Given the description of an element on the screen output the (x, y) to click on. 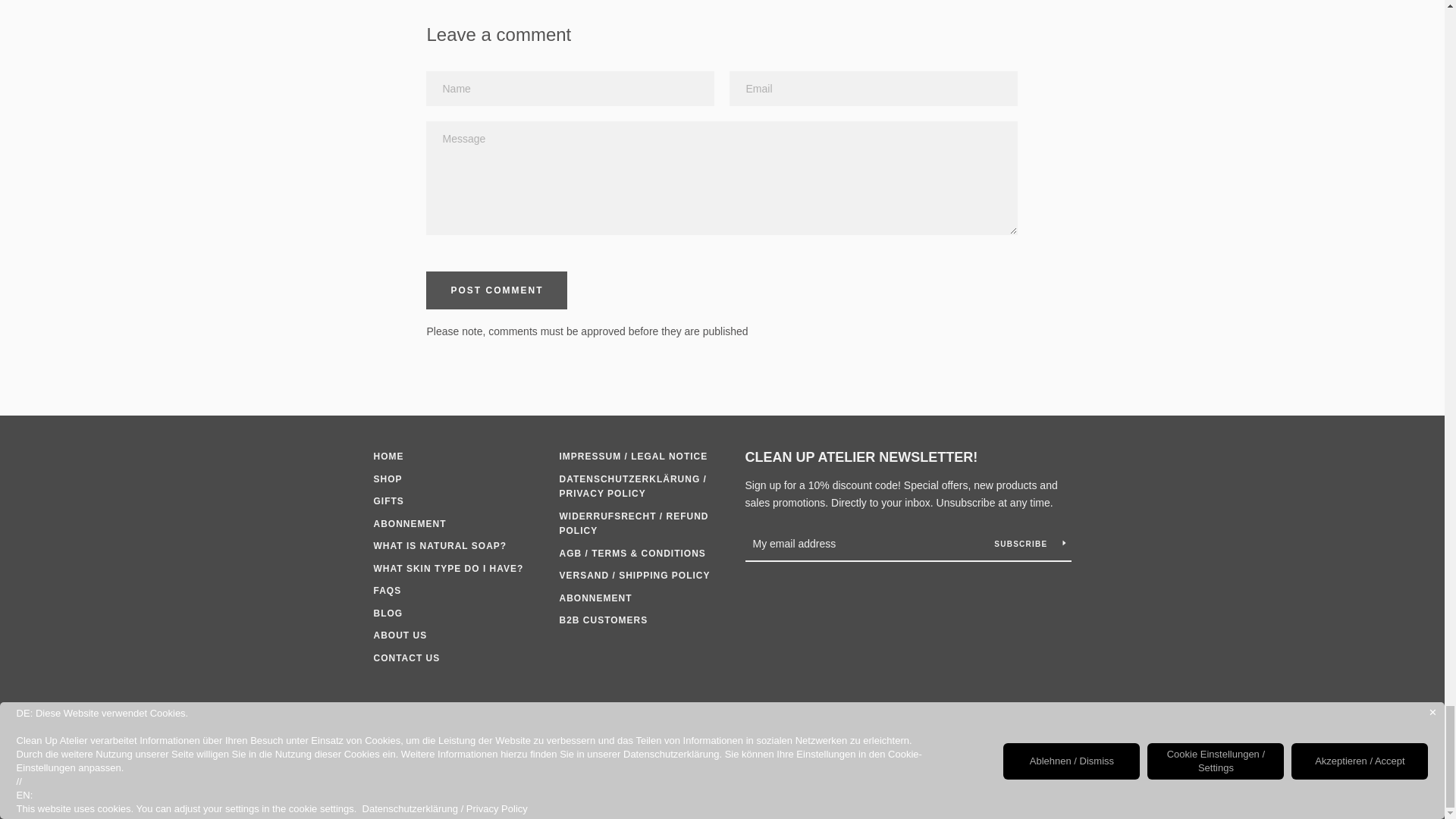
Apple Pay (918, 715)
Mastercard (1057, 715)
Maestro (1022, 715)
This online store is secured by Shopify (722, 778)
Klarna (988, 715)
Shop Pay (953, 738)
Visa (1057, 738)
American Express (883, 715)
Clean Up Atelier on Facebook (372, 725)
Clean Up Atelier on Pinterest (399, 725)
Post comment (496, 290)
Clean Up Atelier on Instagram (424, 725)
Union Pay (1022, 738)
Google Pay (953, 715)
PayPal (918, 738)
